Given the description of an element on the screen output the (x, y) to click on. 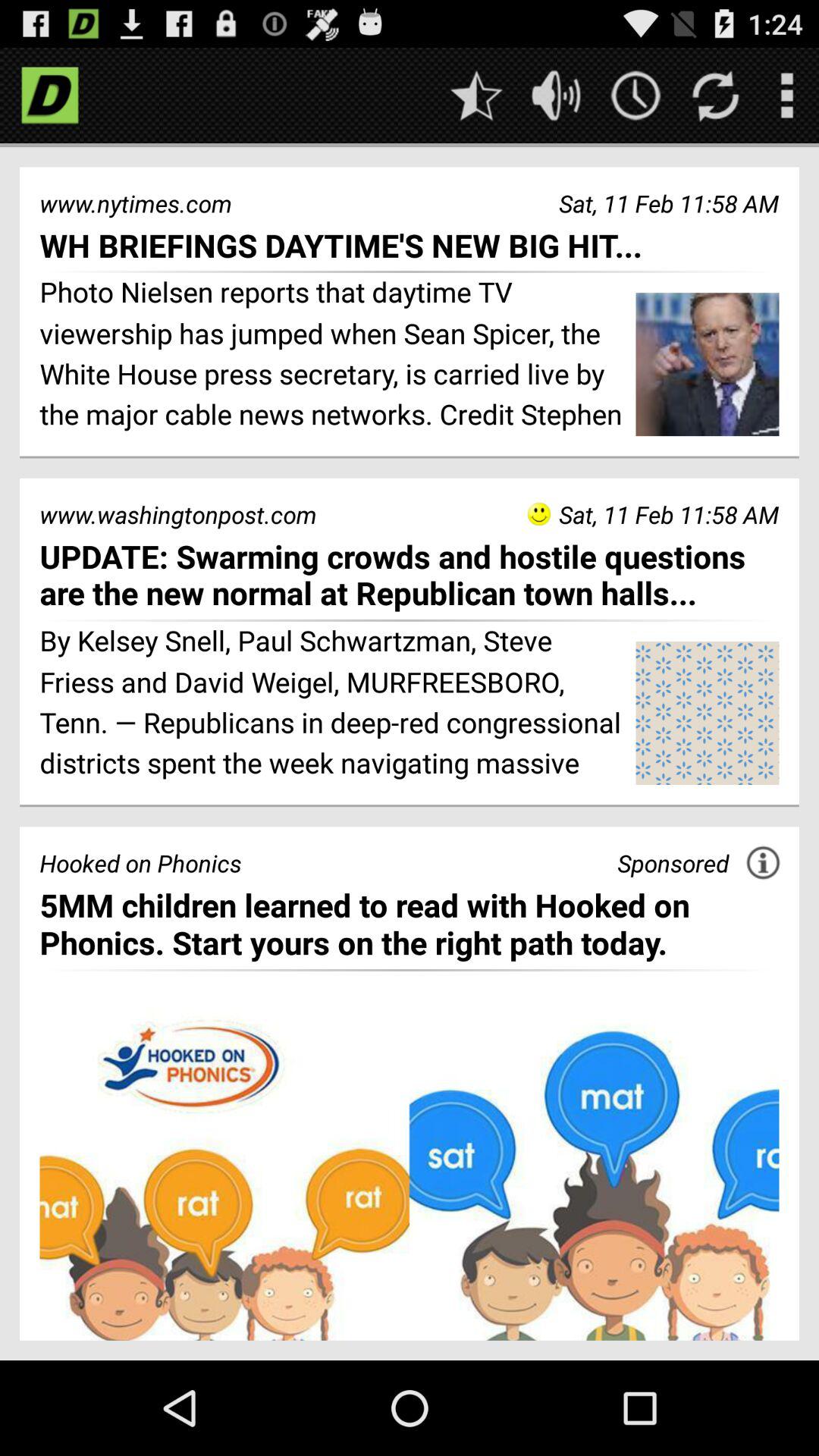
click the icon below www.nytimes.com item (409, 244)
